Given the description of an element on the screen output the (x, y) to click on. 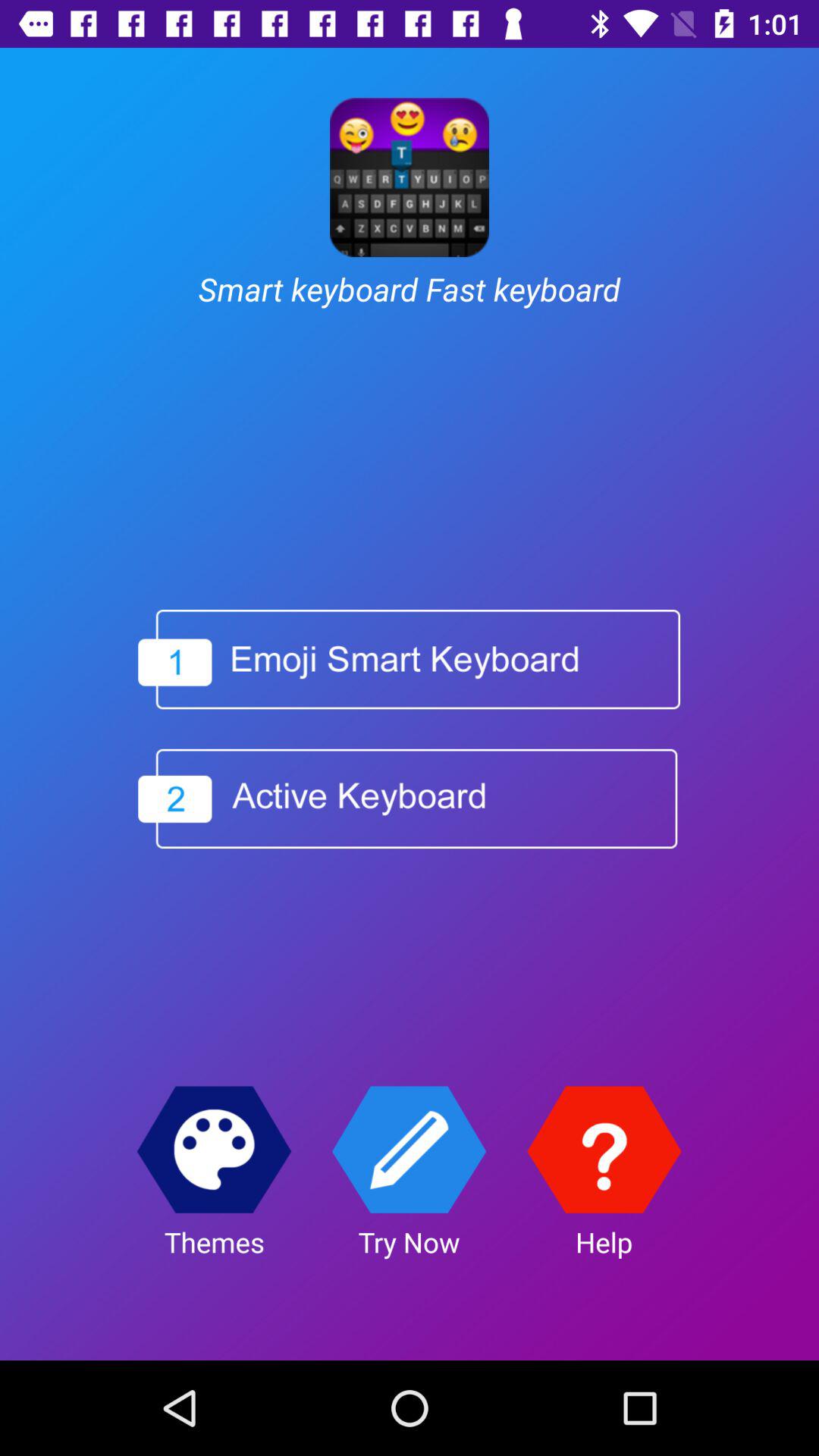
open smart keyboard install (409, 659)
